Given the description of an element on the screen output the (x, y) to click on. 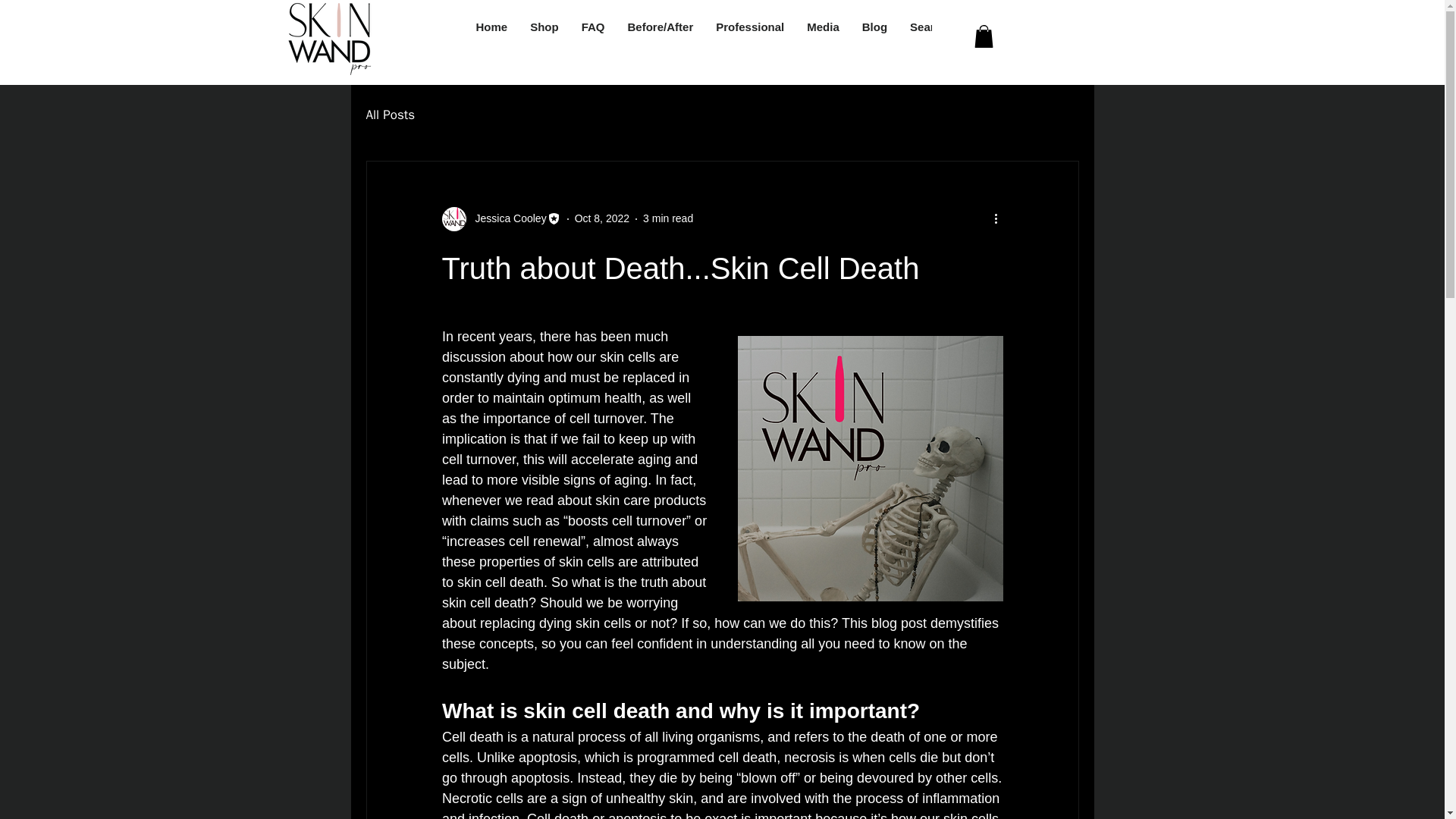
Professional (749, 37)
Jessica Cooley (500, 218)
All Posts (389, 114)
FAQ (592, 37)
Home (491, 37)
Search Results (950, 37)
3 min read (668, 218)
Jessica Cooley (505, 218)
Media (822, 37)
Blog (874, 37)
